Given the description of an element on the screen output the (x, y) to click on. 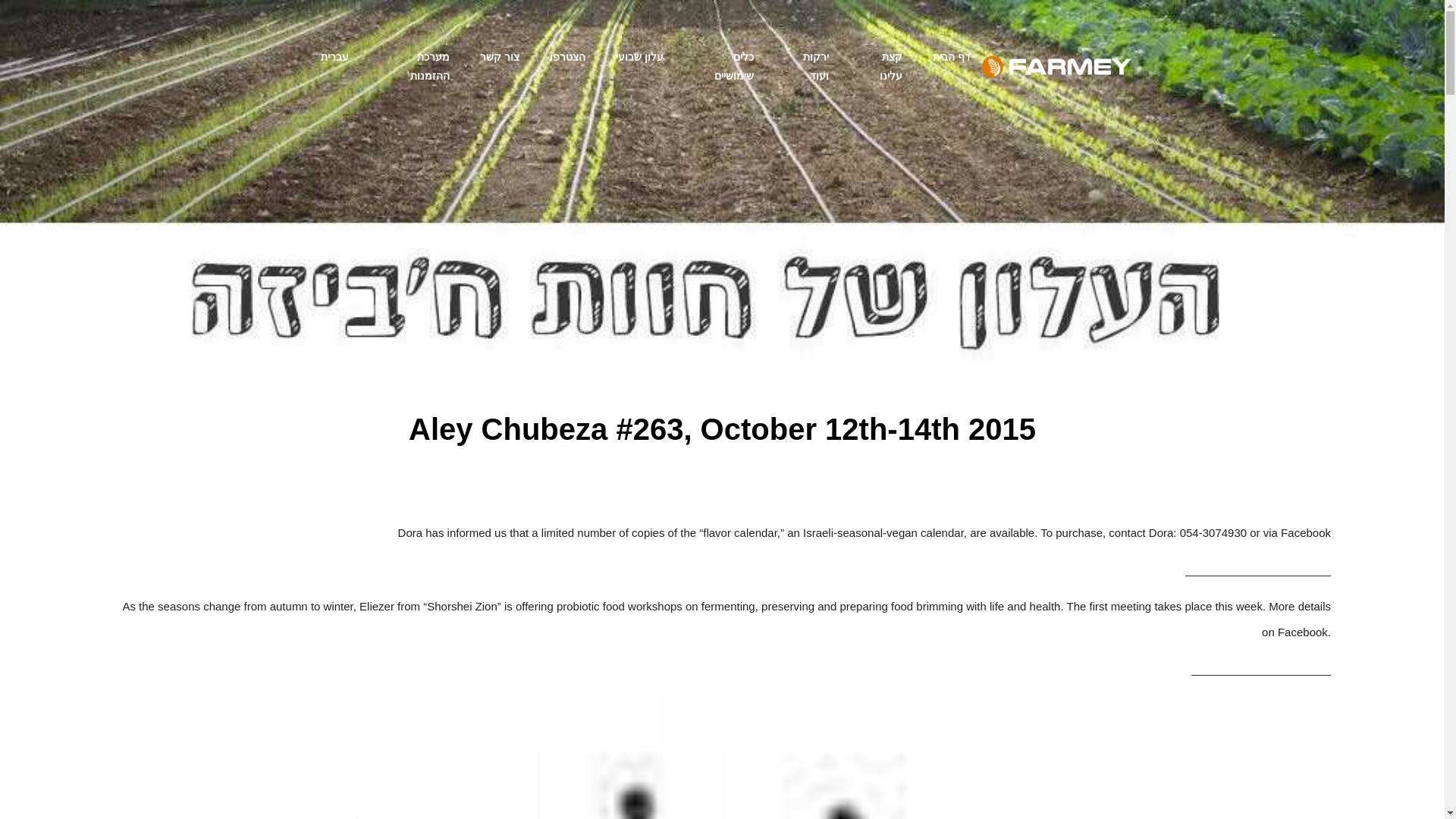
via Facebook (1296, 532)
on Facebook (1294, 631)
